Given the description of an element on the screen output the (x, y) to click on. 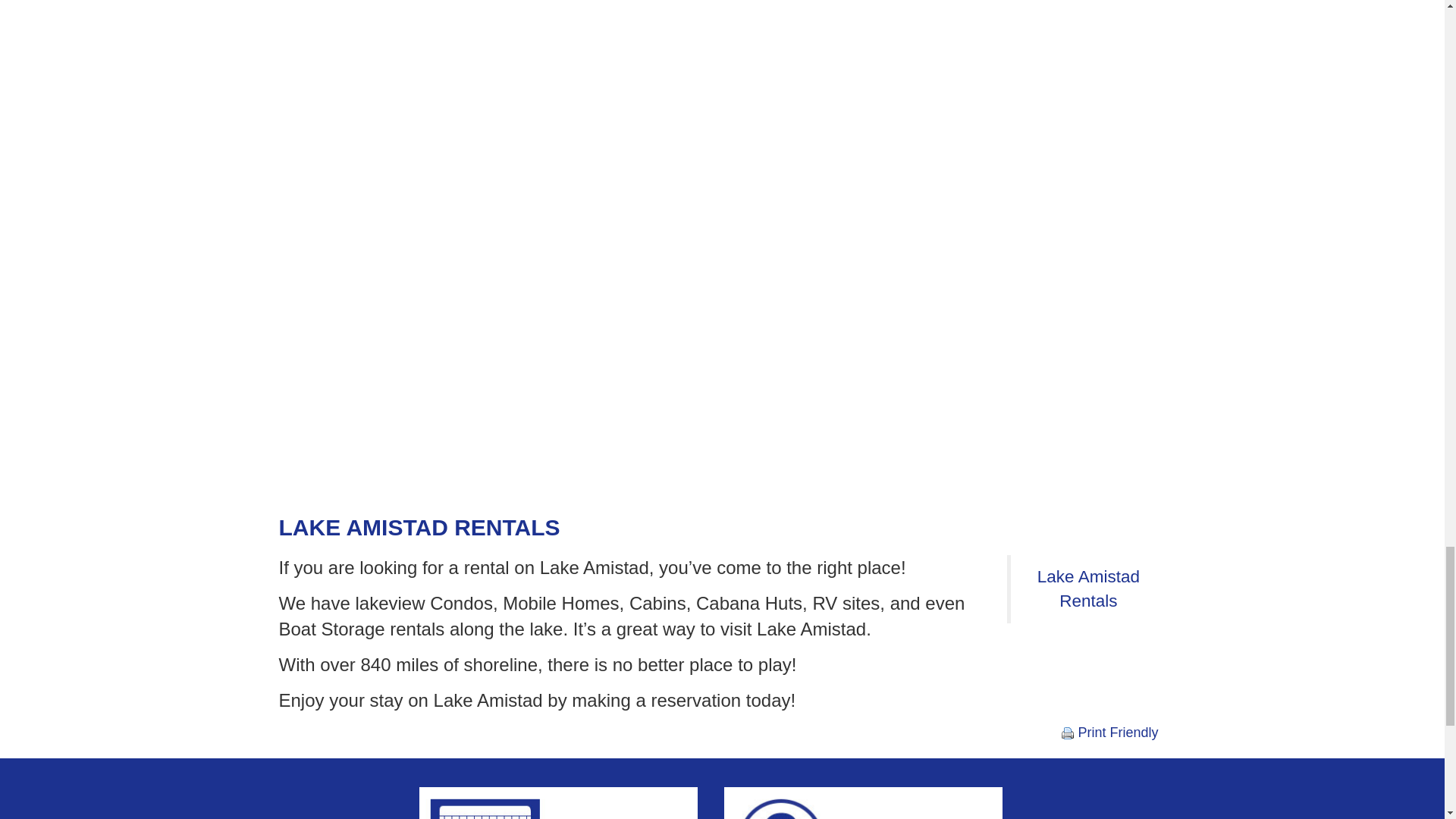
Printer Friendly Layout (1110, 732)
Printer Friendly Layout (1067, 733)
Lake Amistad Rentals (1088, 588)
Print Friendly (1110, 732)
